Given the description of an element on the screen output the (x, y) to click on. 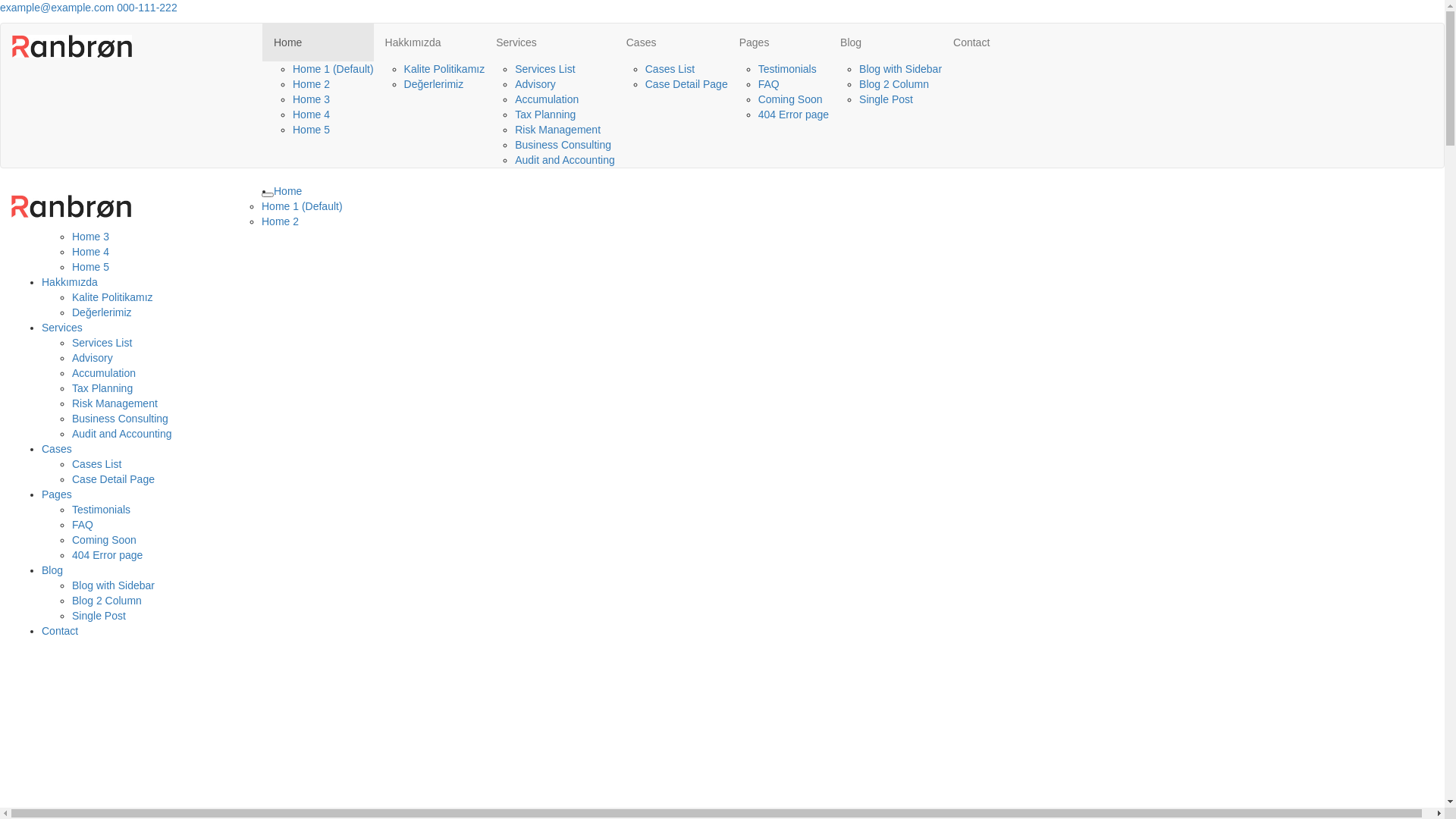
Tax Planning Element type: text (102, 388)
Home 1 (Default) Element type: text (301, 206)
Pages Element type: text (778, 42)
Services List Element type: text (101, 342)
Case Detail Page Element type: text (113, 479)
Accumulation Element type: text (103, 373)
Advisory Element type: text (92, 357)
Contact Element type: text (59, 630)
Business Consulting Element type: text (120, 418)
Coming Soon Element type: text (104, 539)
FAQ Element type: text (768, 84)
404 Error page Element type: text (107, 555)
example@example.com Element type: text (56, 7)
FAQ Element type: text (82, 524)
Home 5 Element type: text (90, 266)
Single Post Element type: text (886, 99)
Single Post Element type: text (98, 615)
Services Element type: text (61, 327)
Services Element type: text (549, 42)
000-111-222 Element type: text (146, 7)
Audit and Accounting Element type: text (122, 433)
Blog Element type: text (884, 42)
Blog 2 Column Element type: text (106, 600)
Pages Element type: text (56, 494)
Home 2 Element type: text (279, 221)
Risk Management Element type: text (114, 403)
Coming Soon Element type: text (790, 99)
Advisory Element type: text (534, 84)
Testimonials Element type: text (787, 68)
Contact Element type: text (971, 42)
Cases Element type: text (671, 42)
Home 4 Element type: text (310, 114)
Accumulation Element type: text (546, 99)
Services List Element type: text (544, 68)
Home 5 Element type: text (310, 129)
Risk Management Element type: text (557, 129)
Blog with Sidebar Element type: text (113, 585)
Cases Element type: text (56, 448)
Home 3 Element type: text (90, 236)
Case Detail Page Element type: text (686, 84)
Audit and Accounting Element type: text (564, 159)
Blog Element type: text (51, 570)
Testimonials Element type: text (101, 509)
404 Error page Element type: text (793, 114)
Cases List Element type: text (96, 464)
Home 1 (Default) Element type: text (332, 68)
Business Consulting Element type: text (562, 144)
Home Element type: text (317, 42)
Cases List Element type: text (669, 68)
Home 3 Element type: text (310, 99)
Tax Planning Element type: text (544, 114)
Home 2 Element type: text (310, 84)
Blog 2 Column Element type: text (893, 84)
Home 4 Element type: text (90, 251)
Home Element type: text (287, 191)
Blog with Sidebar Element type: text (900, 68)
